Given the description of an element on the screen output the (x, y) to click on. 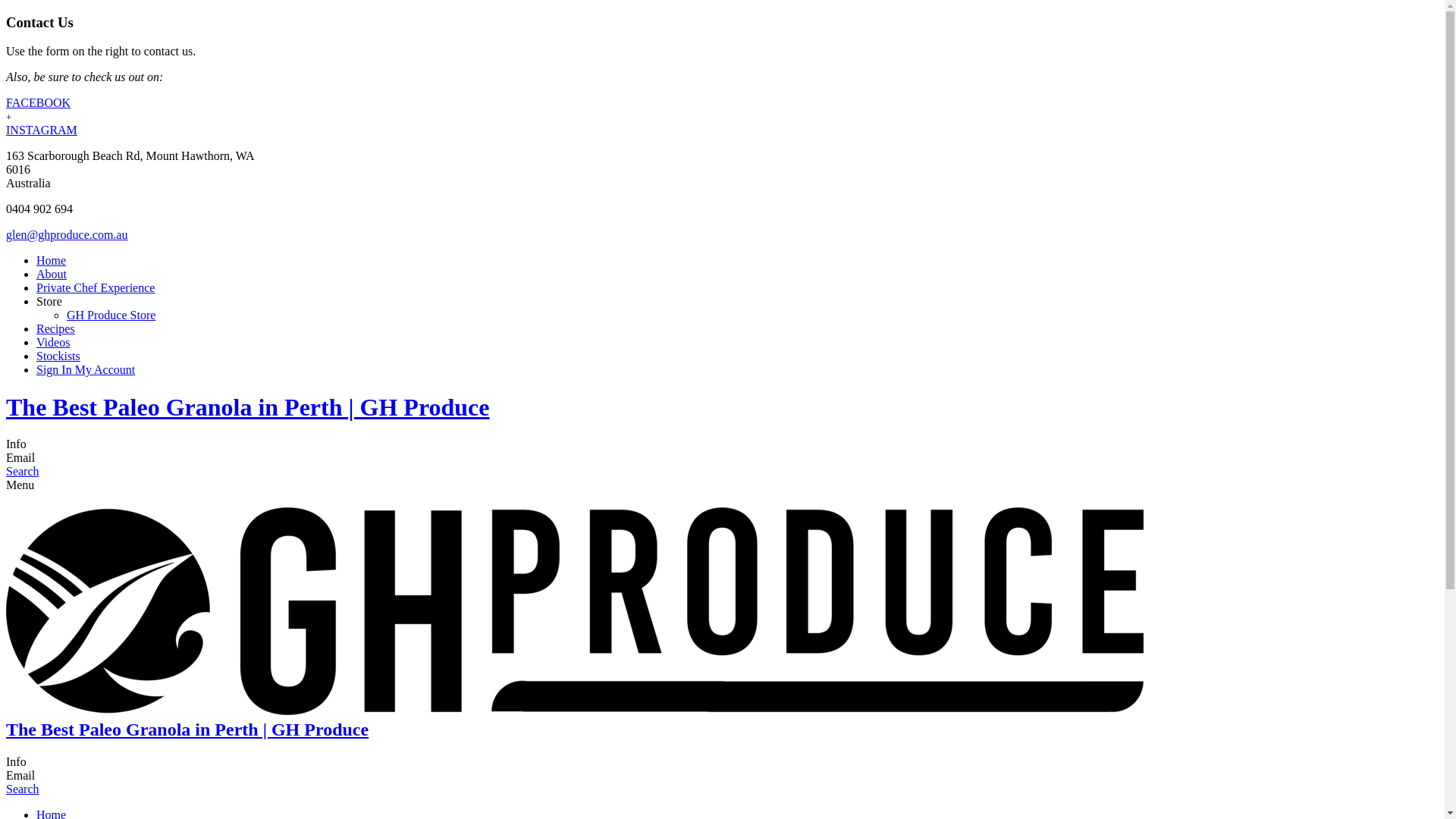
Home Element type: text (50, 260)
Info Element type: text (16, 443)
FACEBOOK Element type: text (38, 102)
Email Element type: text (20, 774)
The Best Paleo Granola in Perth | GH Produce Element type: text (187, 729)
Search Element type: text (22, 470)
Stockists Element type: text (58, 355)
GH Produce Store Element type: text (110, 314)
Info Element type: text (16, 761)
About Element type: text (51, 273)
Recipes Element type: text (55, 328)
The Best Paleo Granola in Perth | GH Produce Element type: text (247, 406)
Menu Element type: text (20, 484)
Search Element type: text (22, 788)
Private Chef Experience Element type: text (95, 287)
Sign In My Account Element type: text (85, 369)
Videos Element type: text (52, 341)
Email Element type: text (20, 457)
INSTAGRAM Element type: text (41, 129)
glen@ghproduce.com.au Element type: text (66, 234)
Store Element type: text (49, 300)
